Given the description of an element on the screen output the (x, y) to click on. 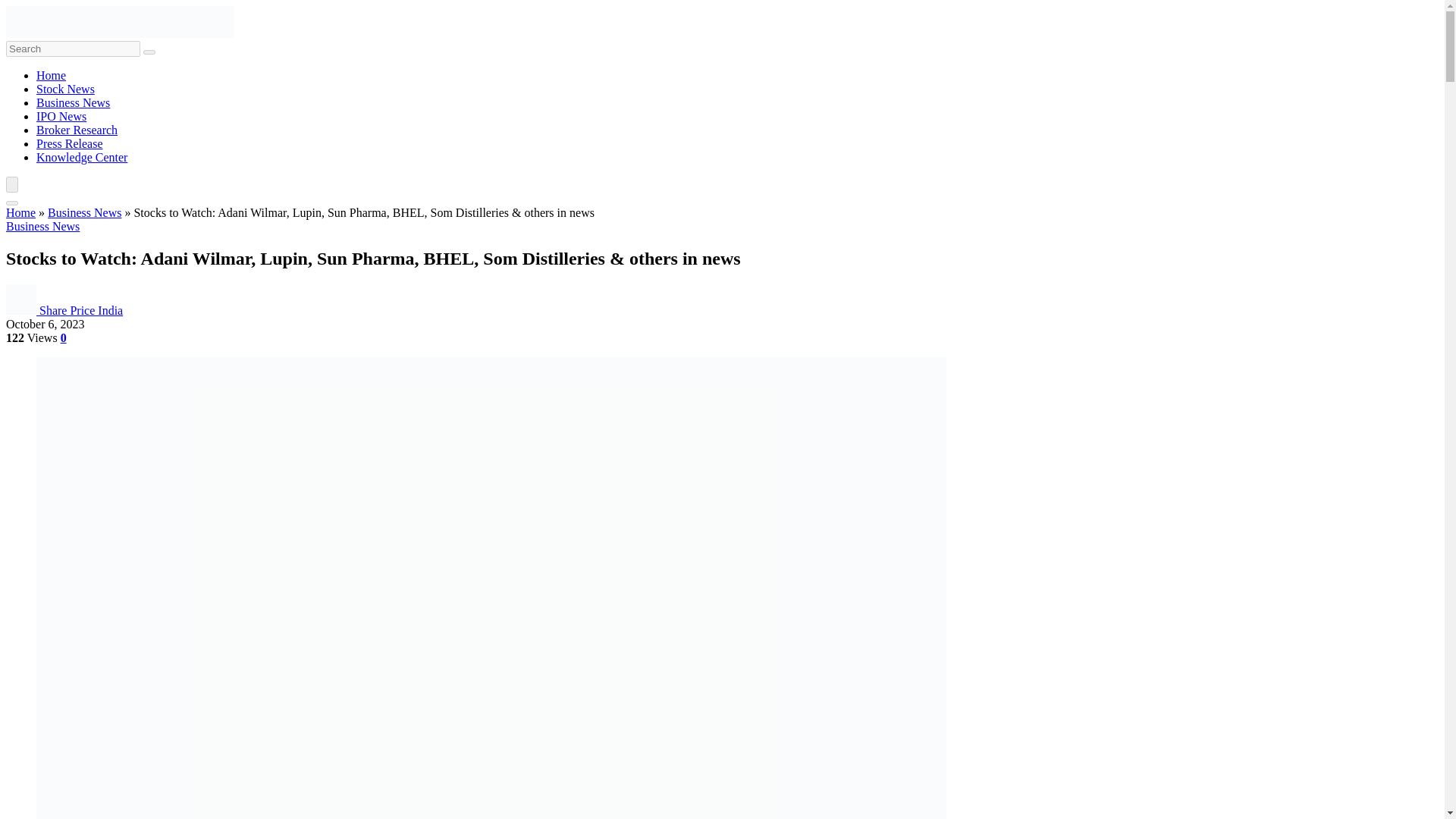
Business News (42, 226)
Knowledge Center (82, 156)
Business News (73, 102)
View all posts in Business News (42, 226)
IPO News (60, 115)
Share Price India (80, 309)
Business News (84, 212)
Stock News (65, 88)
Broker Research (76, 129)
Press Release (69, 143)
